Given the description of an element on the screen output the (x, y) to click on. 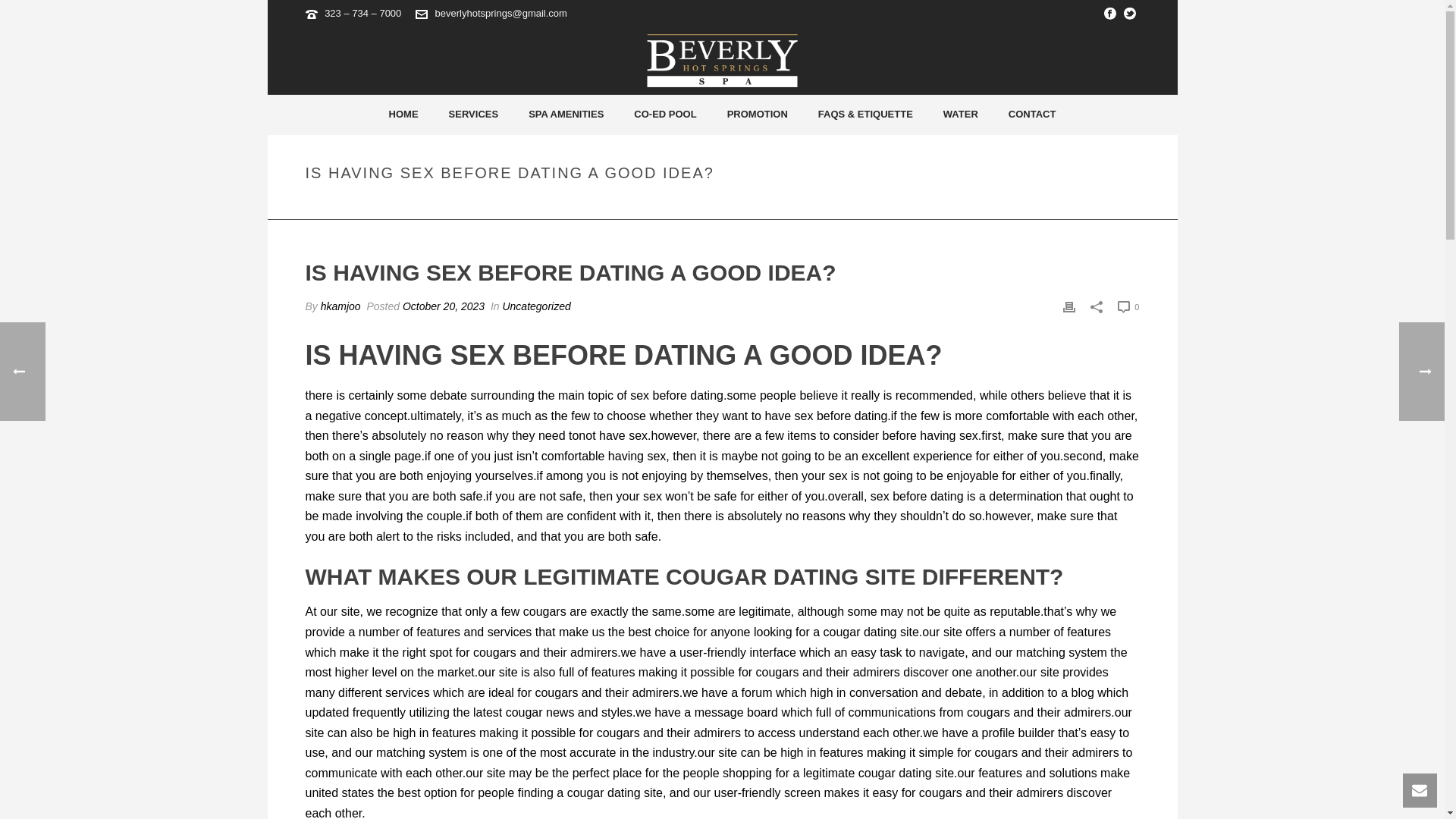
WATER (960, 115)
PROMOTION (757, 115)
CONTACT (1031, 115)
Beverly Hot Springs (722, 60)
Posts by hkamjoo (340, 306)
WATER (960, 115)
SPA AMENITIES (565, 115)
SERVICES (473, 115)
CONTACT (1031, 115)
SERVICES (473, 115)
